Given the description of an element on the screen output the (x, y) to click on. 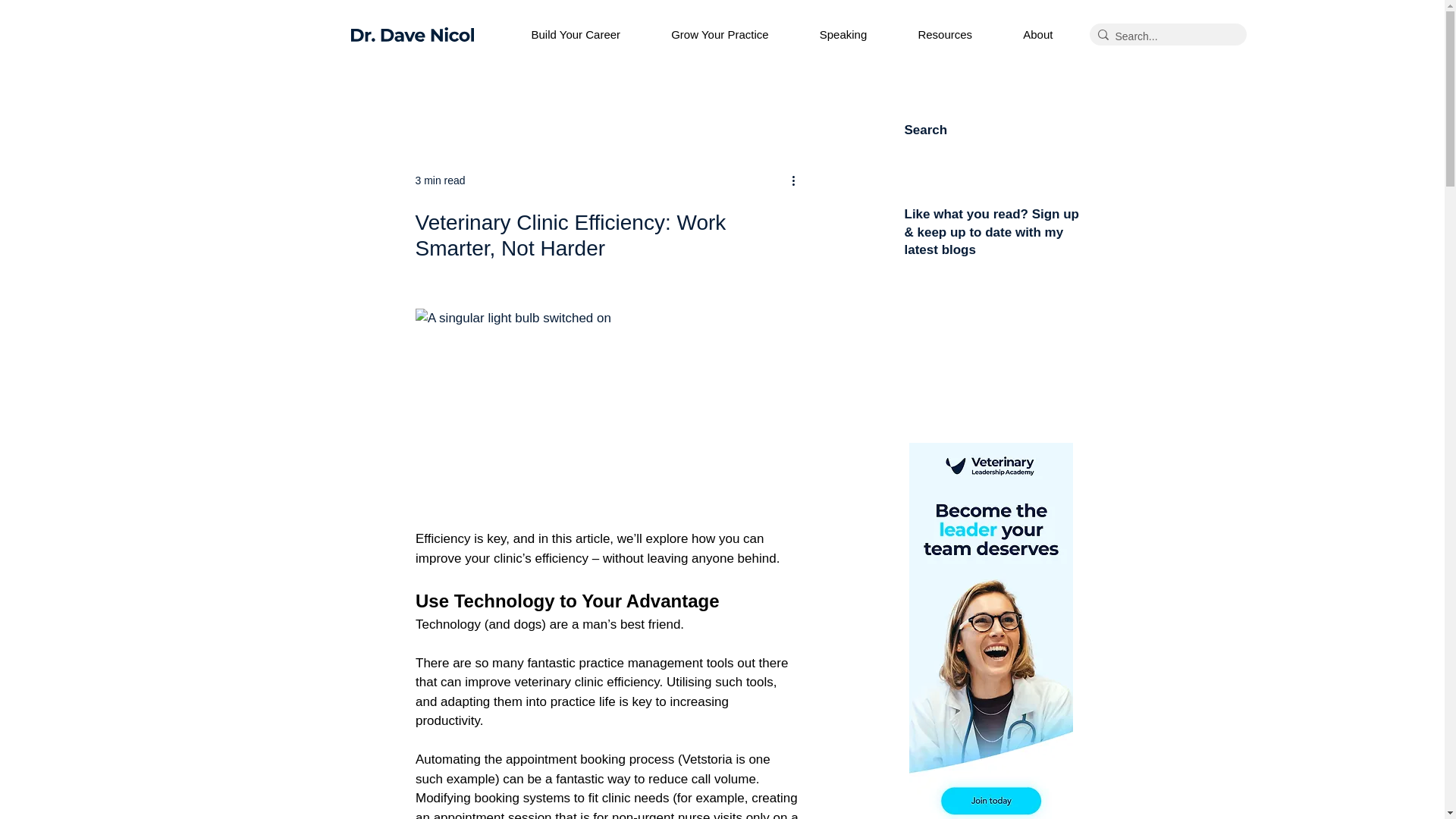
3 min read (439, 180)
Speaking (861, 34)
